Given the description of an element on the screen output the (x, y) to click on. 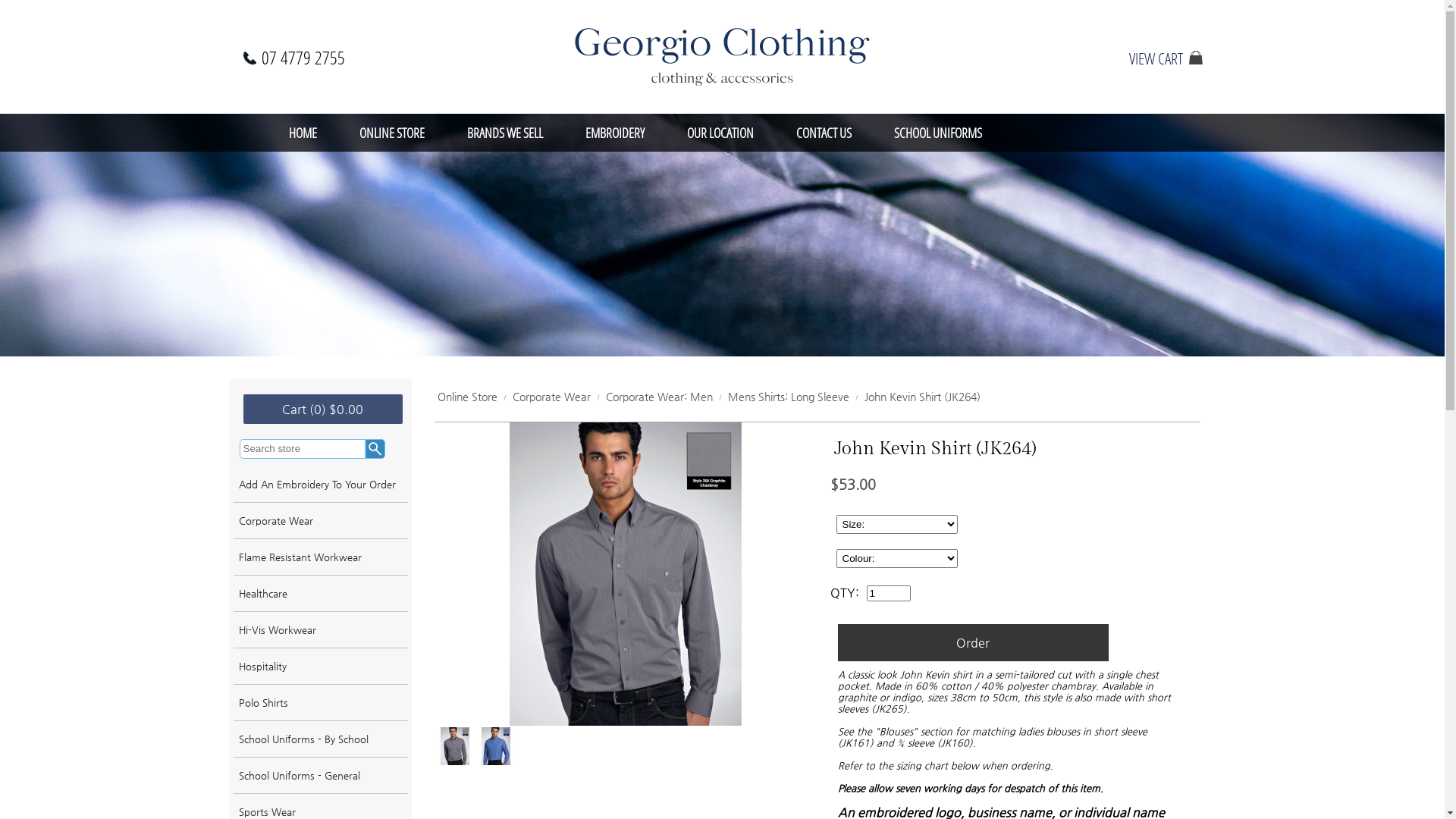
Add An Embroidery To Your Order Element type: text (320, 484)
John Kevin Shirt (JK264) Element type: hover (624, 573)
Corporate Wear Element type: text (551, 396)
John Kevin Shirt (JK264) Element type: text (922, 396)
Flame Resistant Workwear Element type: text (320, 557)
CONTACT US Element type: text (823, 132)
Corporate Wear Element type: text (320, 520)
Order Element type: text (972, 642)
School Uniforms - By School Element type: text (320, 739)
BRANDS WE SELL Element type: text (504, 132)
Healthcare Element type: text (320, 593)
Mens Shirts: Long Sleeve Element type: text (788, 396)
Cart (0) $0.00 Element type: text (321, 408)
School Uniforms - General Element type: text (320, 775)
ONLINE STORE Element type: text (391, 132)
Hospitality Element type: text (320, 666)
Corporate Wear: Men Element type: text (658, 396)
Polo Shirts Element type: text (320, 702)
Hi-Vis Workwear Element type: text (320, 629)
OUR LOCATION Element type: text (720, 132)
VIEW CART Element type: text (1156, 58)
HOME Element type: text (301, 132)
SCHOOL UNIFORMS Element type: text (937, 132)
Online Store Element type: text (466, 396)
EMBROIDERY Element type: text (614, 132)
